Given the description of an element on the screen output the (x, y) to click on. 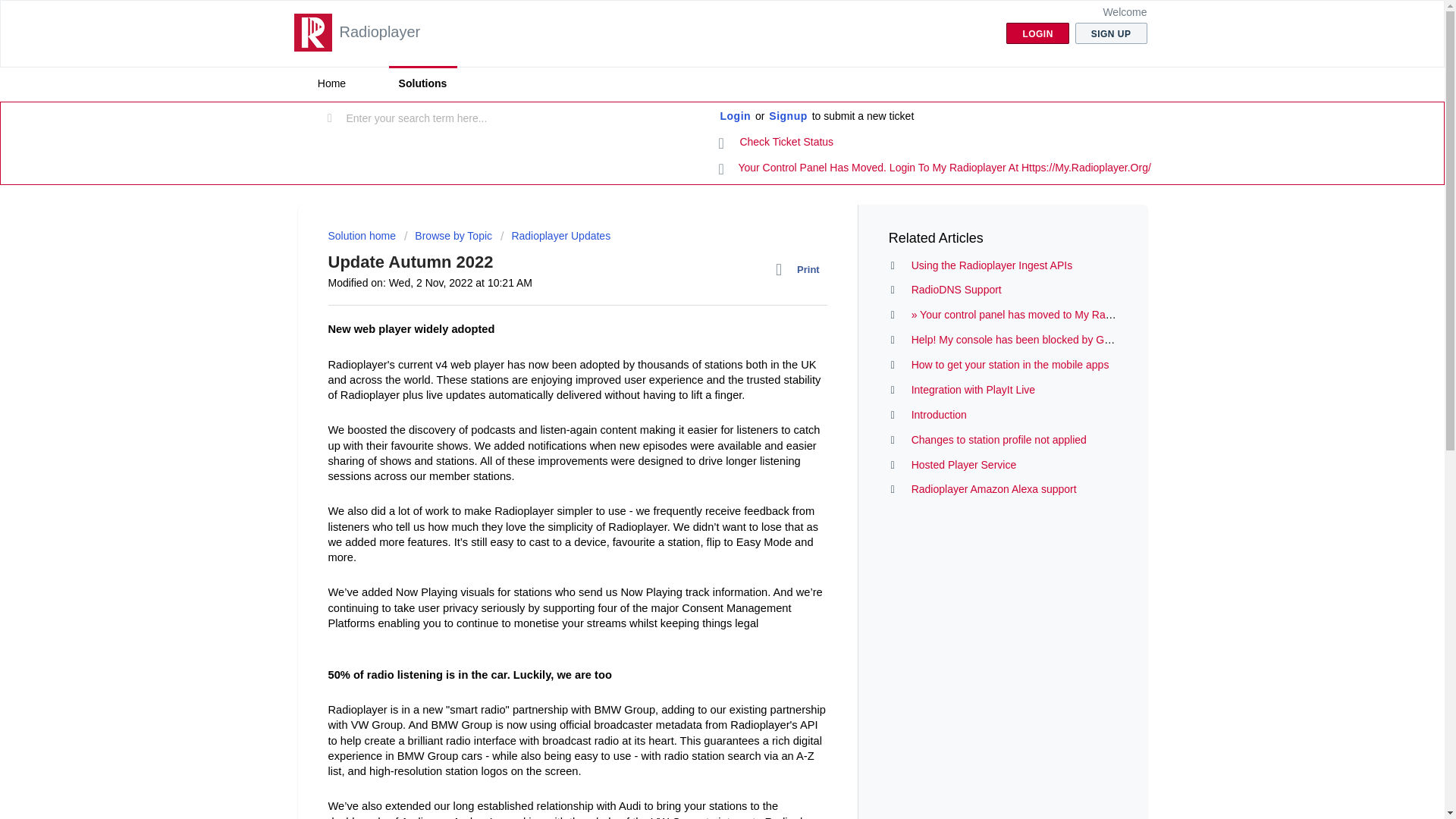
Home (331, 83)
Check ticket status (776, 142)
Integration with PlayIt Live (973, 389)
Help! My console has been blocked by Google (1021, 339)
SIGN UP (1111, 33)
Browse by Topic (448, 235)
Using the Radioplayer Ingest APIs (991, 265)
Print (801, 270)
Signup (787, 116)
Hosted Player Service (963, 464)
RadioDNS Support (956, 289)
Print this Article (801, 270)
Check Ticket Status (776, 142)
LOGIN (1037, 33)
How to get your station in the mobile apps (1010, 364)
